Given the description of an element on the screen output the (x, y) to click on. 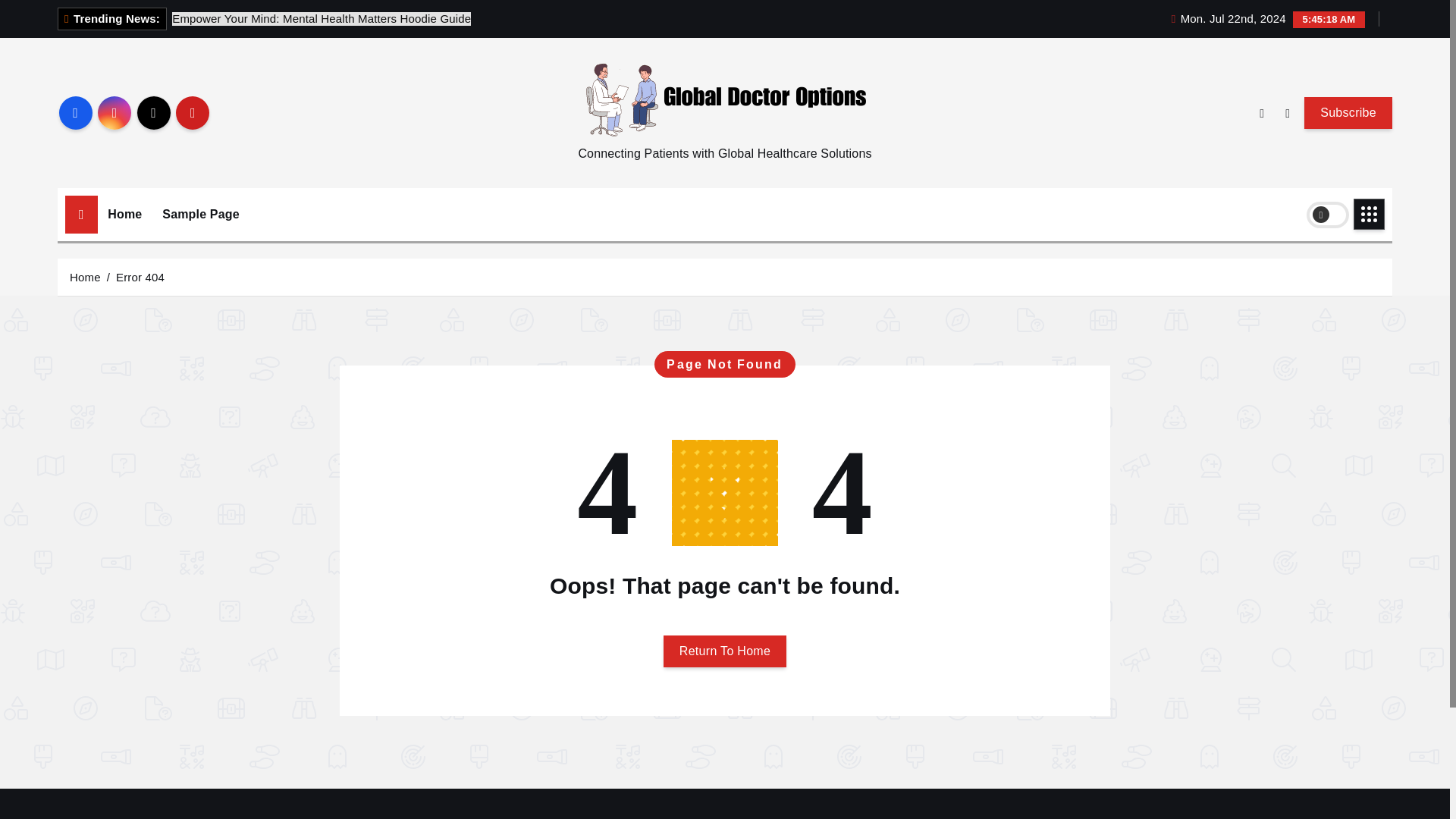
Return To Home (724, 651)
Home (84, 277)
Home (124, 214)
Error 404 (140, 277)
Sample Page (200, 214)
Subscribe (1347, 112)
Home (124, 214)
